Given the description of an element on the screen output the (x, y) to click on. 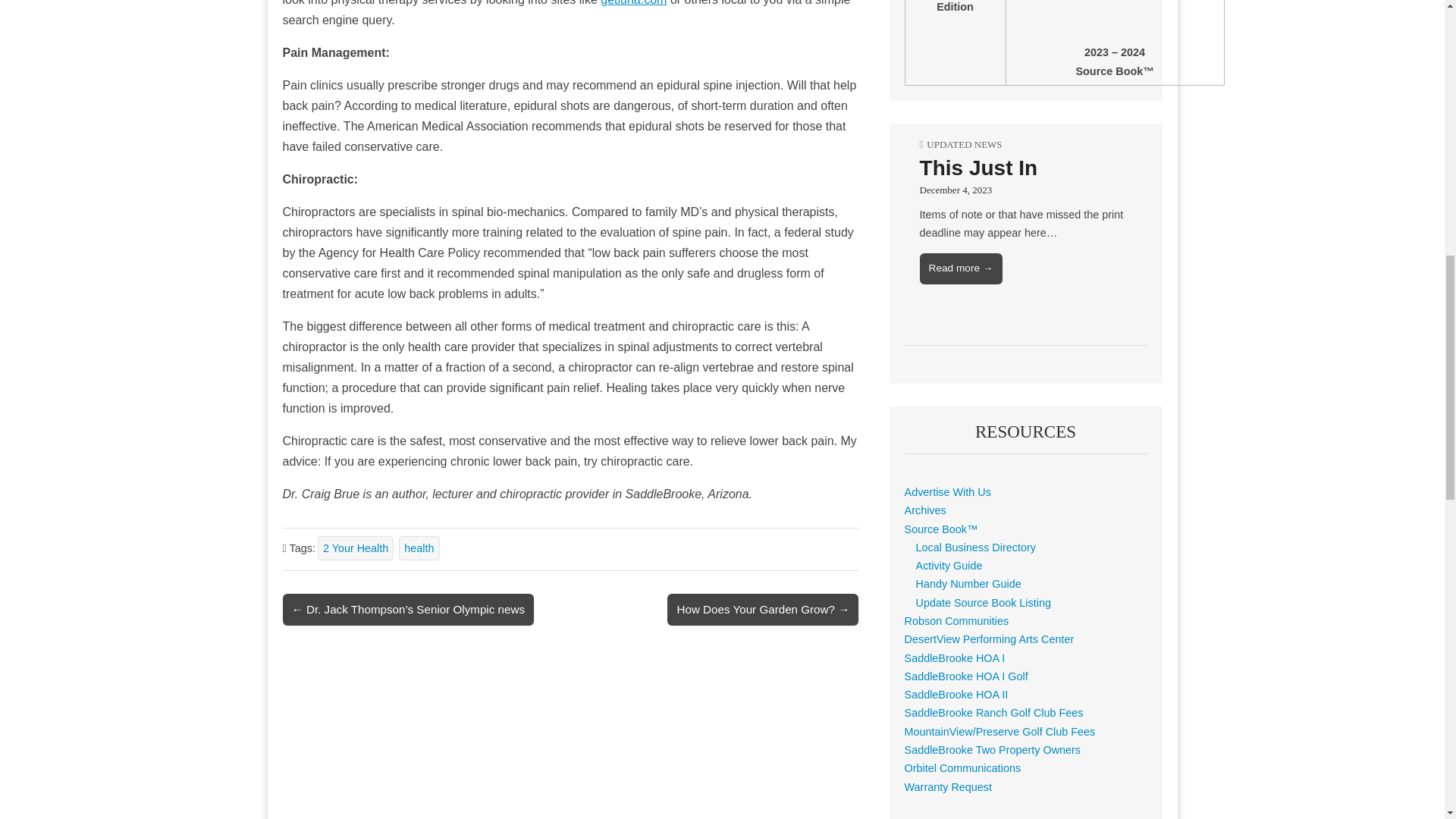
getluna.com (632, 2)
